Given the description of an element on the screen output the (x, y) to click on. 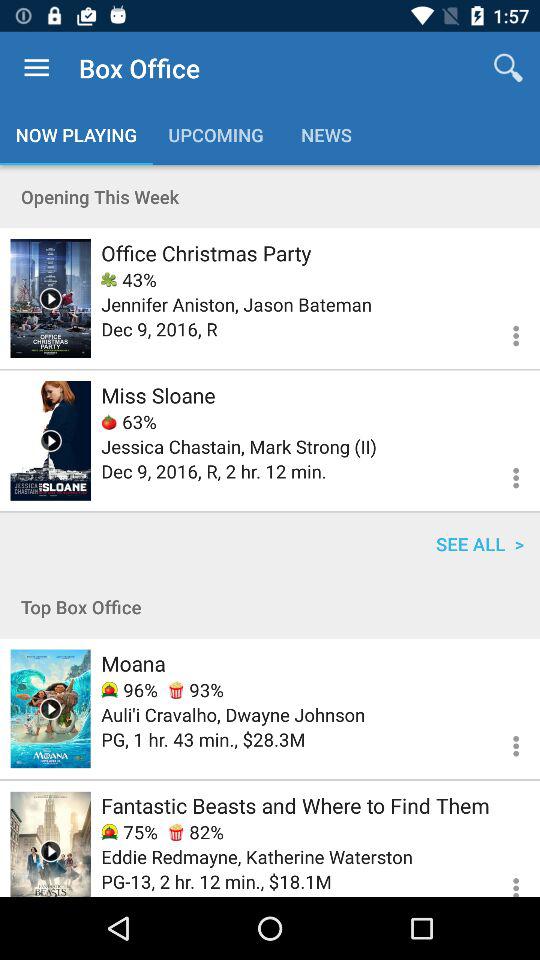
show more options (503, 743)
